Given the description of an element on the screen output the (x, y) to click on. 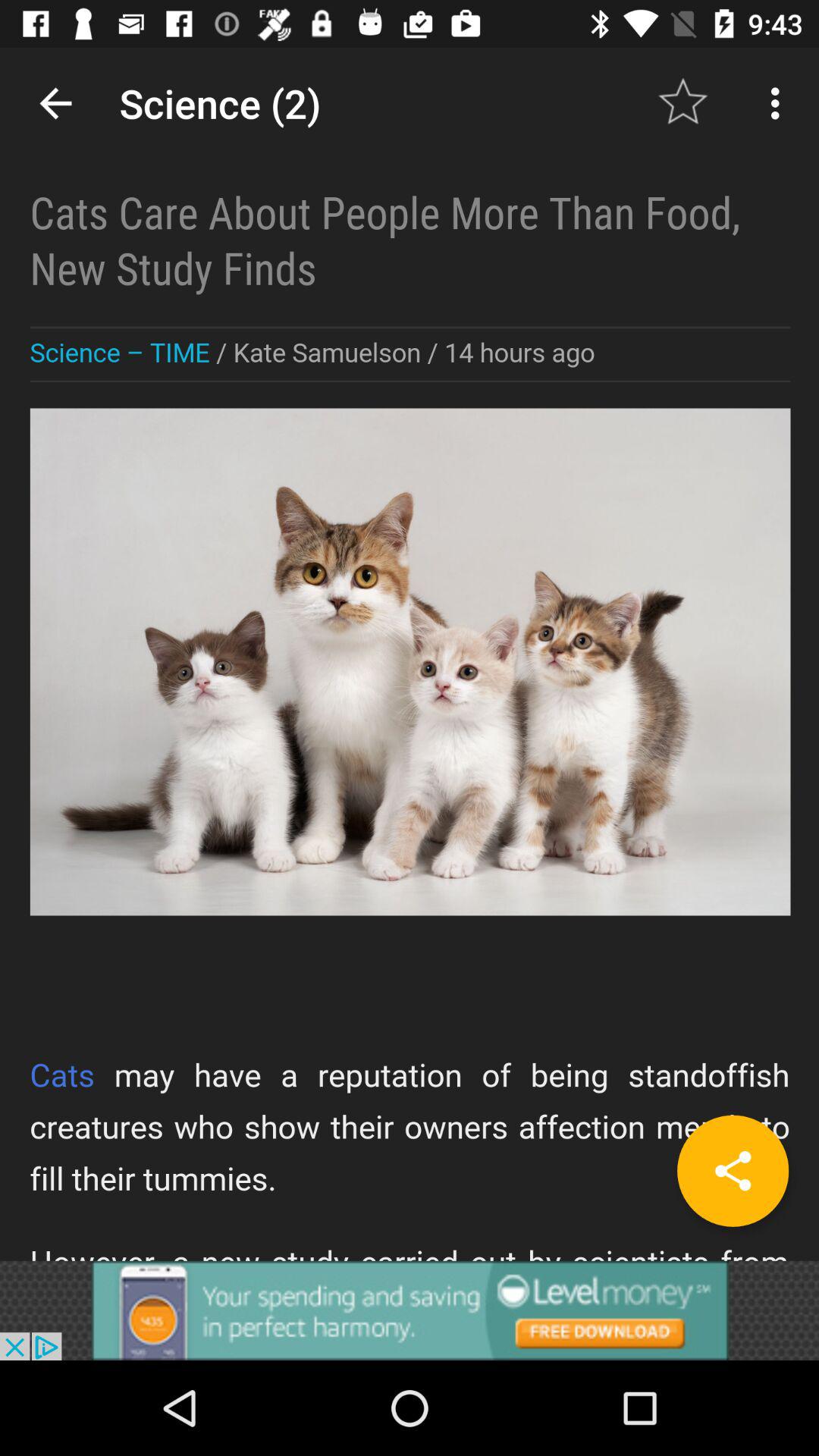
advertisement page (409, 653)
